Given the description of an element on the screen output the (x, y) to click on. 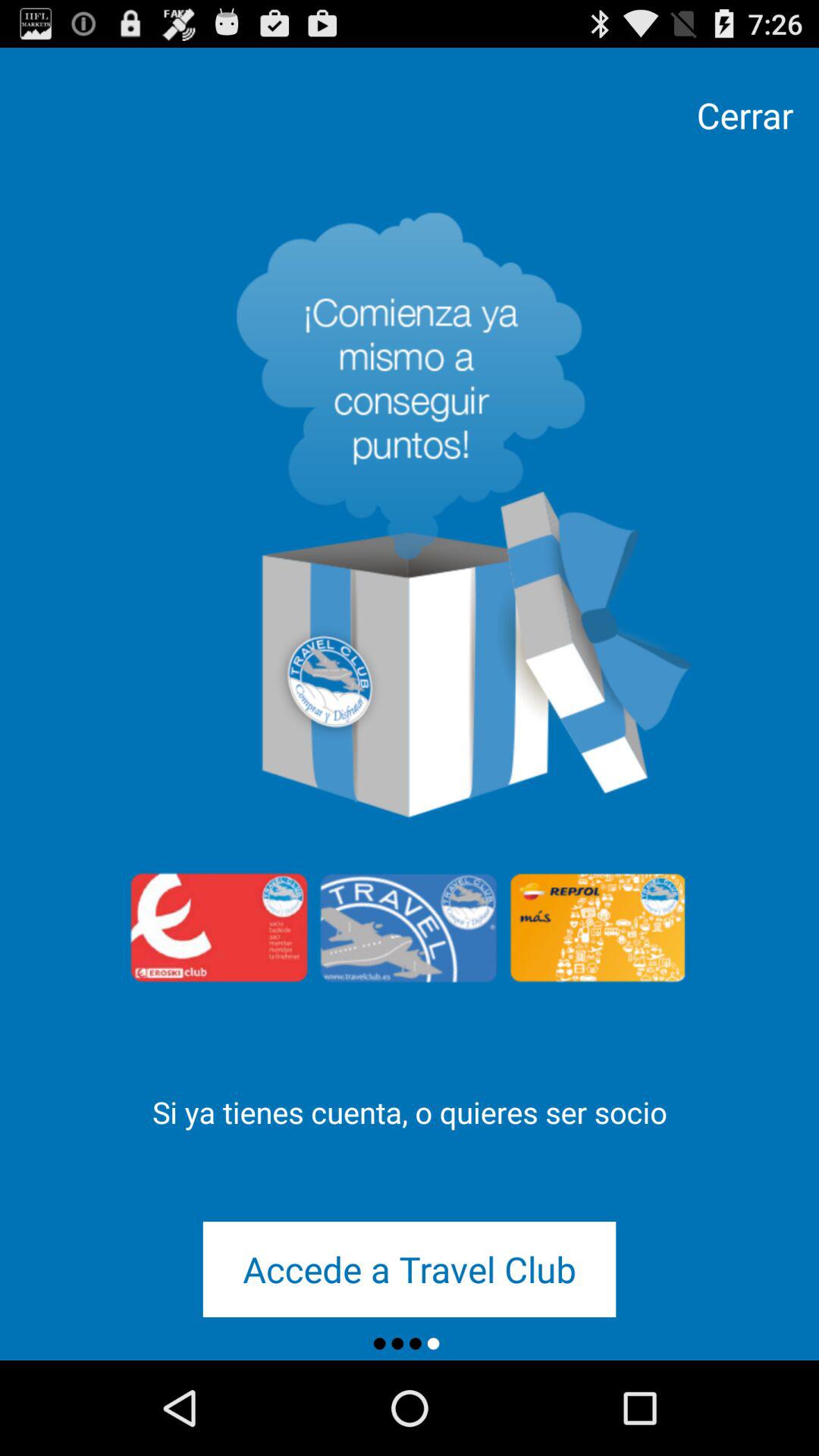
turn on item at the top right corner (744, 115)
